Given the description of an element on the screen output the (x, y) to click on. 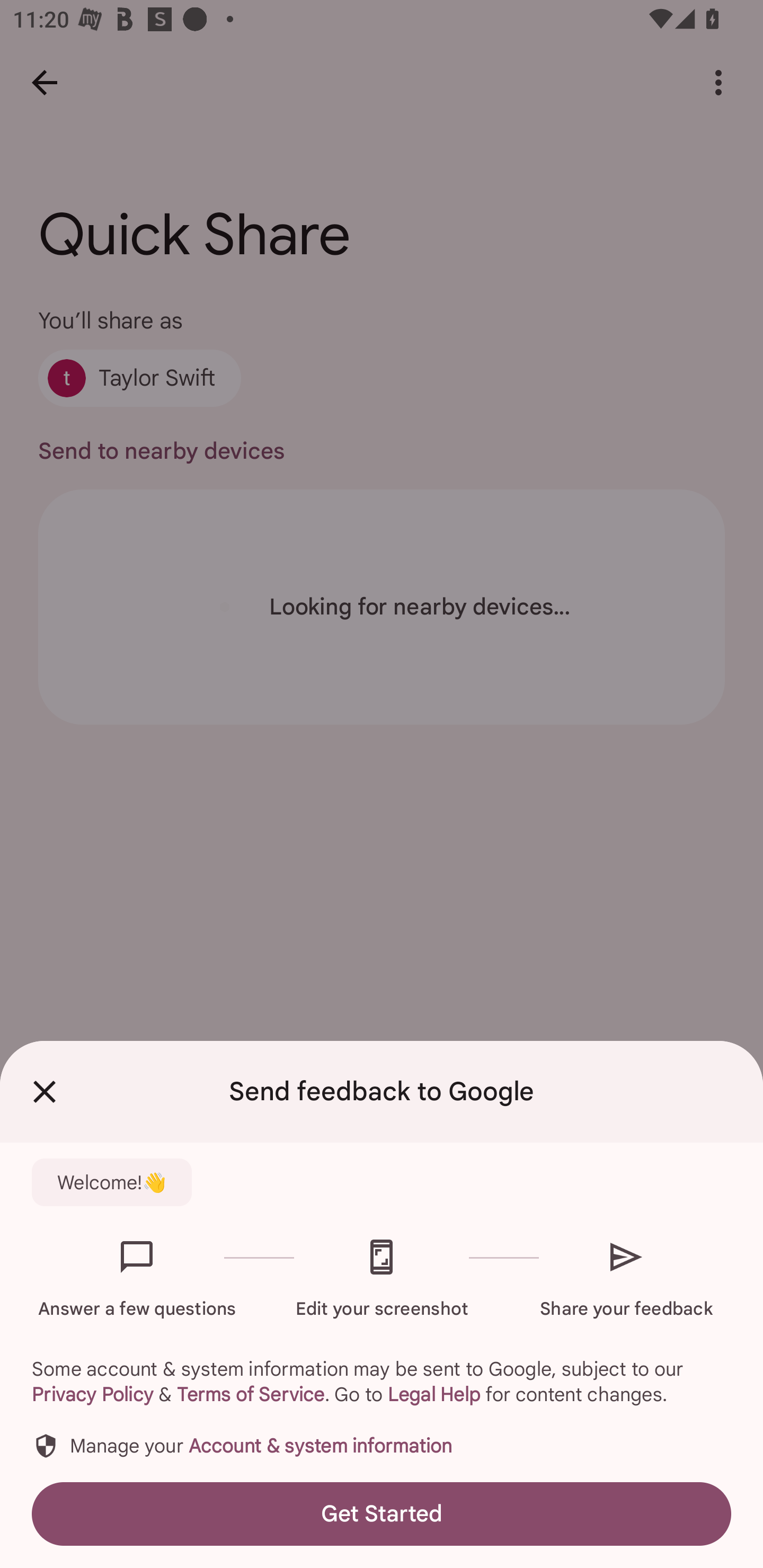
Close Feedback (44, 1091)
Get Started (381, 1513)
